Given the description of an element on the screen output the (x, y) to click on. 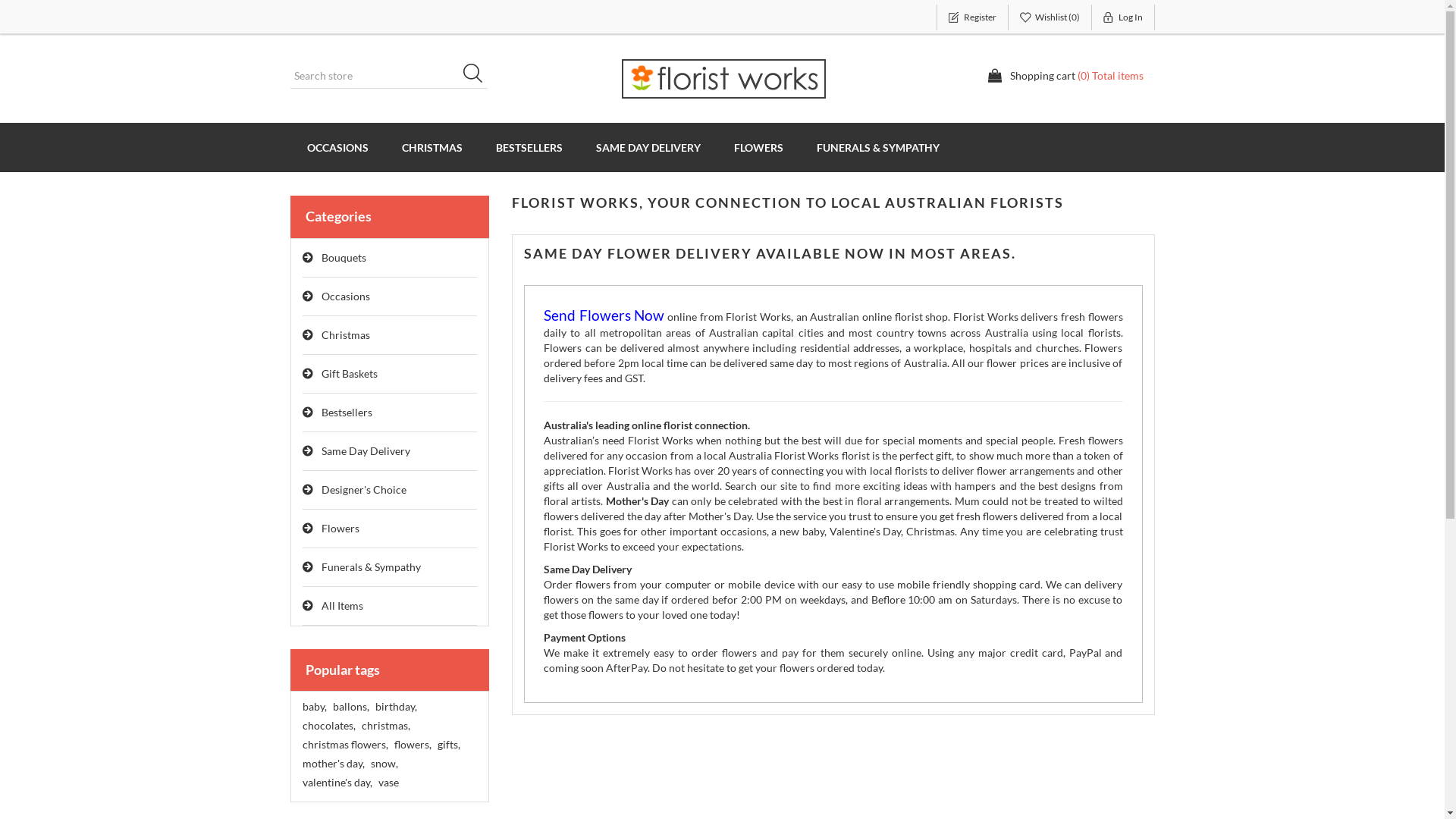
birthday, Element type: text (395, 706)
ballons, Element type: text (350, 706)
christmas, Element type: text (384, 725)
Same Day Delivery Element type: text (388, 451)
BESTSELLERS Element type: text (529, 147)
Send Flowers Now Element type: text (603, 316)
snow, Element type: text (383, 763)
Bestsellers Element type: text (388, 412)
CHRISTMAS Element type: text (432, 147)
SAME DAY DELIVERY Element type: text (648, 147)
Flowers Element type: text (388, 528)
flowers, Element type: text (412, 744)
All Items Element type: text (388, 605)
Wishlist (0) Element type: text (1050, 17)
mother's day, Element type: text (332, 763)
FLOWERS Element type: text (758, 147)
gifts, Element type: text (447, 744)
Log In Element type: text (1123, 17)
Gift Baskets Element type: text (388, 373)
Bouquets Element type: text (388, 257)
OCCASIONS Element type: text (336, 147)
Funerals & Sympathy Element type: text (388, 567)
vase Element type: text (387, 782)
baby, Element type: text (313, 706)
Shopping cart (0) Total items Element type: text (1065, 75)
FUNERALS & SYMPATHY Element type: text (877, 147)
Designer's Choice Element type: text (388, 489)
Register Element type: text (971, 17)
valentine's day, Element type: text (336, 782)
chocolates, Element type: text (327, 725)
Christmas Element type: text (388, 335)
christmas flowers, Element type: text (344, 744)
Occasions Element type: text (388, 296)
